Given the description of an element on the screen output the (x, y) to click on. 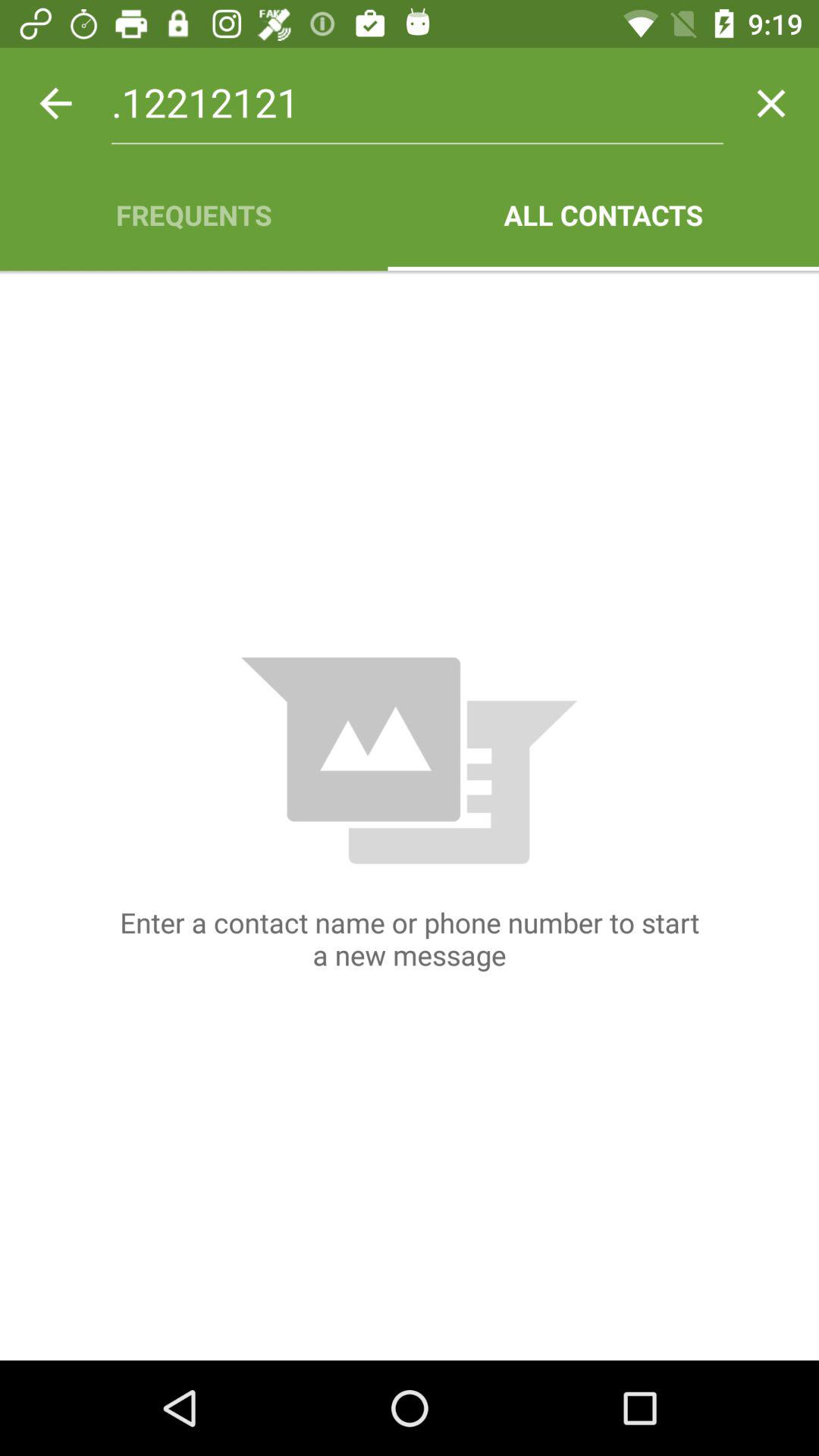
click icon next to frequents icon (603, 214)
